Given the description of an element on the screen output the (x, y) to click on. 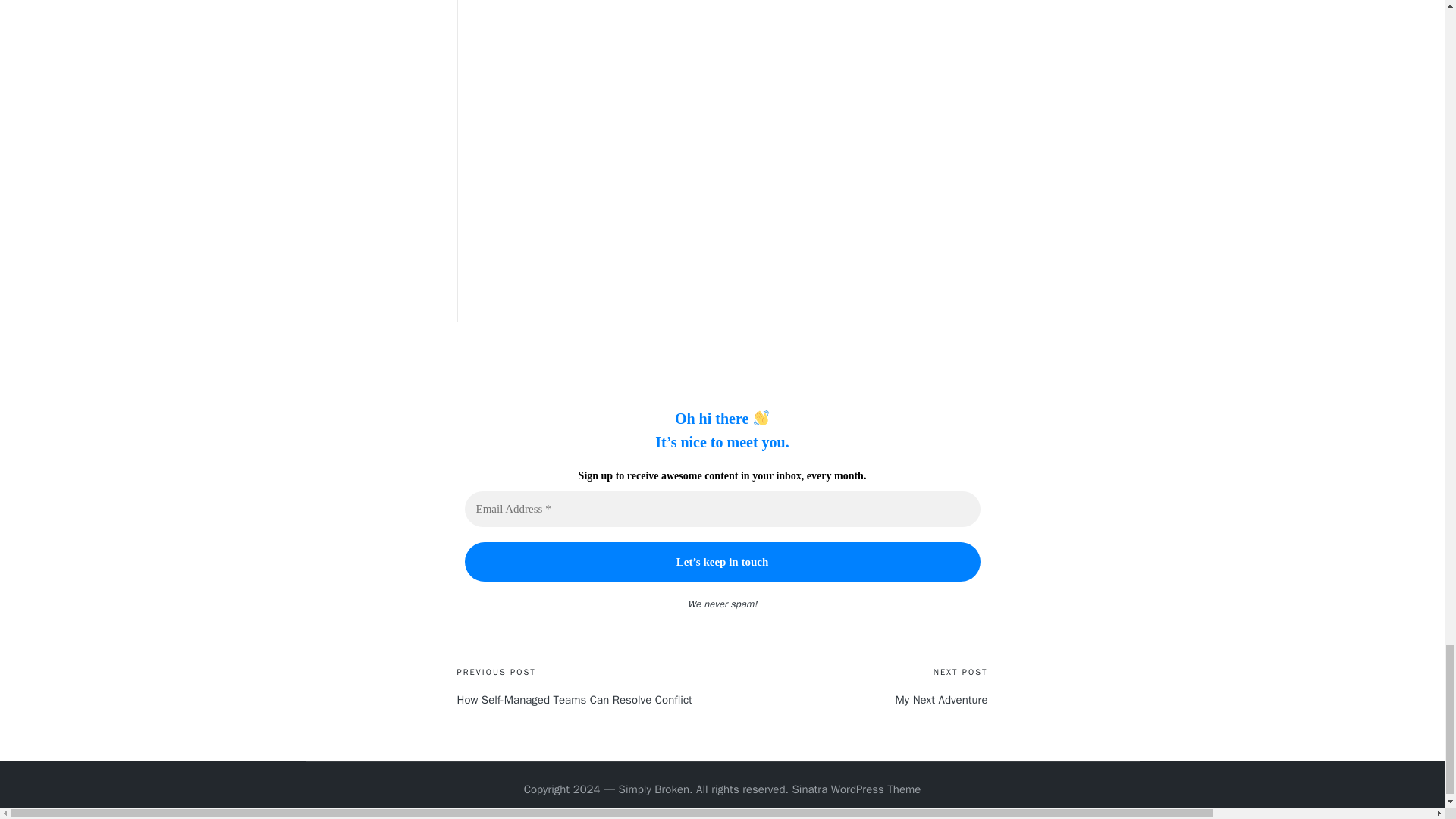
Email Address (721, 509)
Sinatra WordPress Theme (856, 790)
How Self-Managed Teams Can Resolve Conflict (589, 700)
My Next Adventure (854, 700)
